Given the description of an element on the screen output the (x, y) to click on. 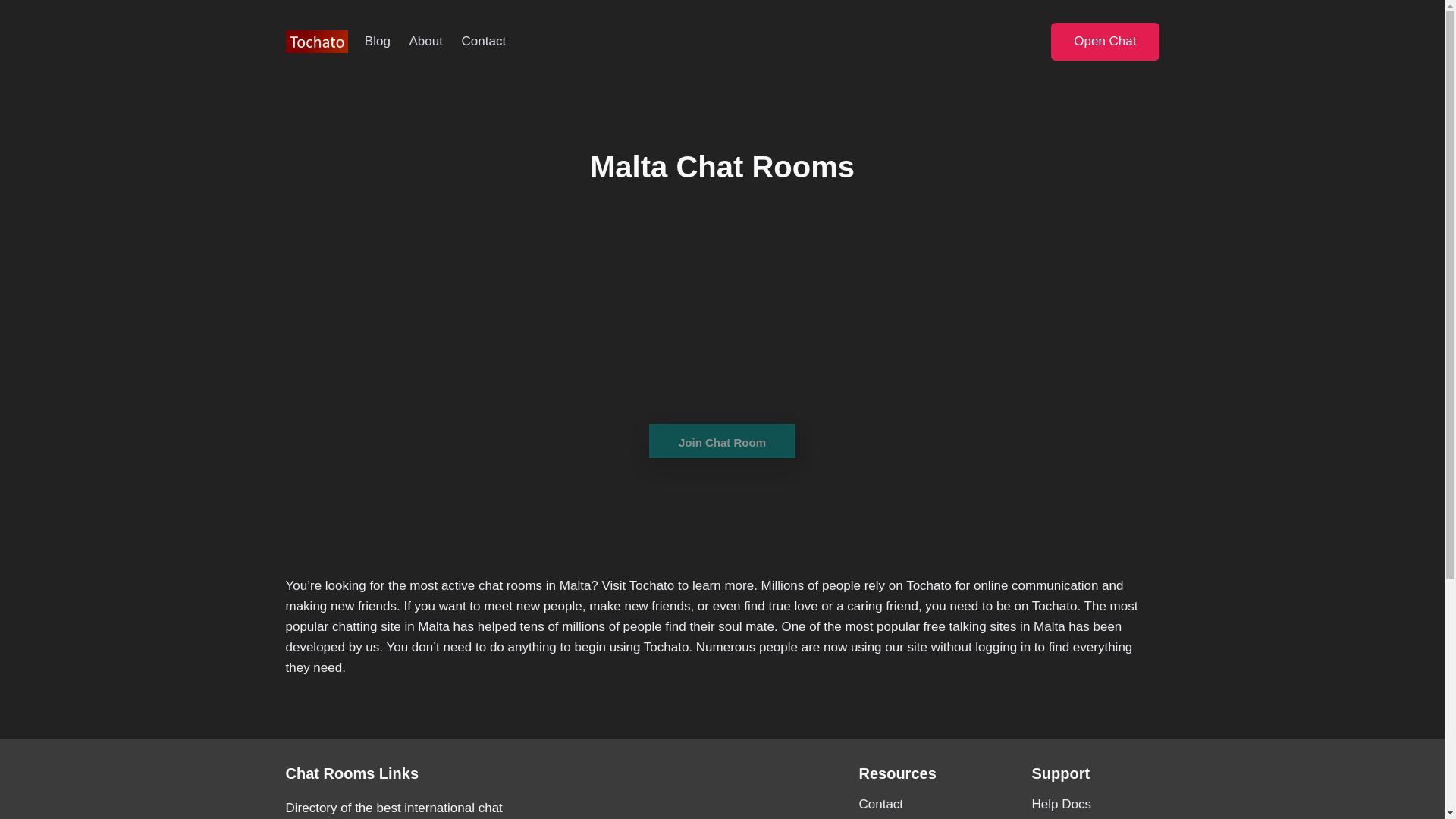
Contact (922, 804)
Help Docs (1094, 804)
Privacy Policy (922, 818)
Blog (376, 41)
Contact (483, 41)
Join Chat Room (721, 449)
Join Chat Room (721, 440)
Community (1094, 818)
Open Chat (1104, 40)
About (424, 41)
